Given the description of an element on the screen output the (x, y) to click on. 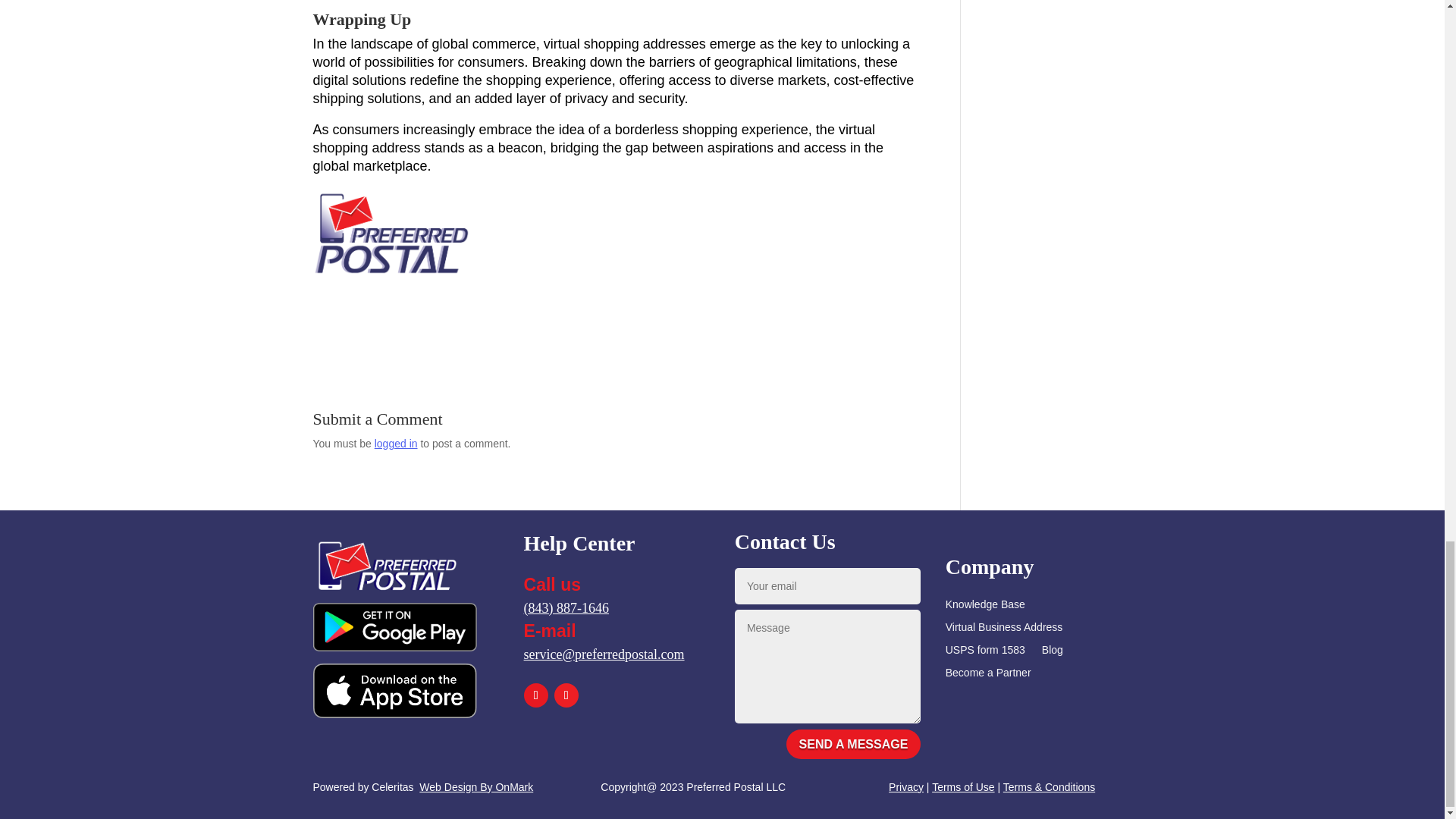
Follow on Facebook (536, 695)
Blog (1052, 652)
Privacy Policy (905, 787)
Follow on Youtube (566, 695)
USPS form 1583 (984, 652)
logged in (395, 443)
Virtual Business Address (1003, 629)
SEND A MESSAGE (853, 744)
inbox logo1 (387, 562)
Knowledge Base (984, 606)
Apple Store (394, 690)
Google Play Store (394, 626)
